Given the description of an element on the screen output the (x, y) to click on. 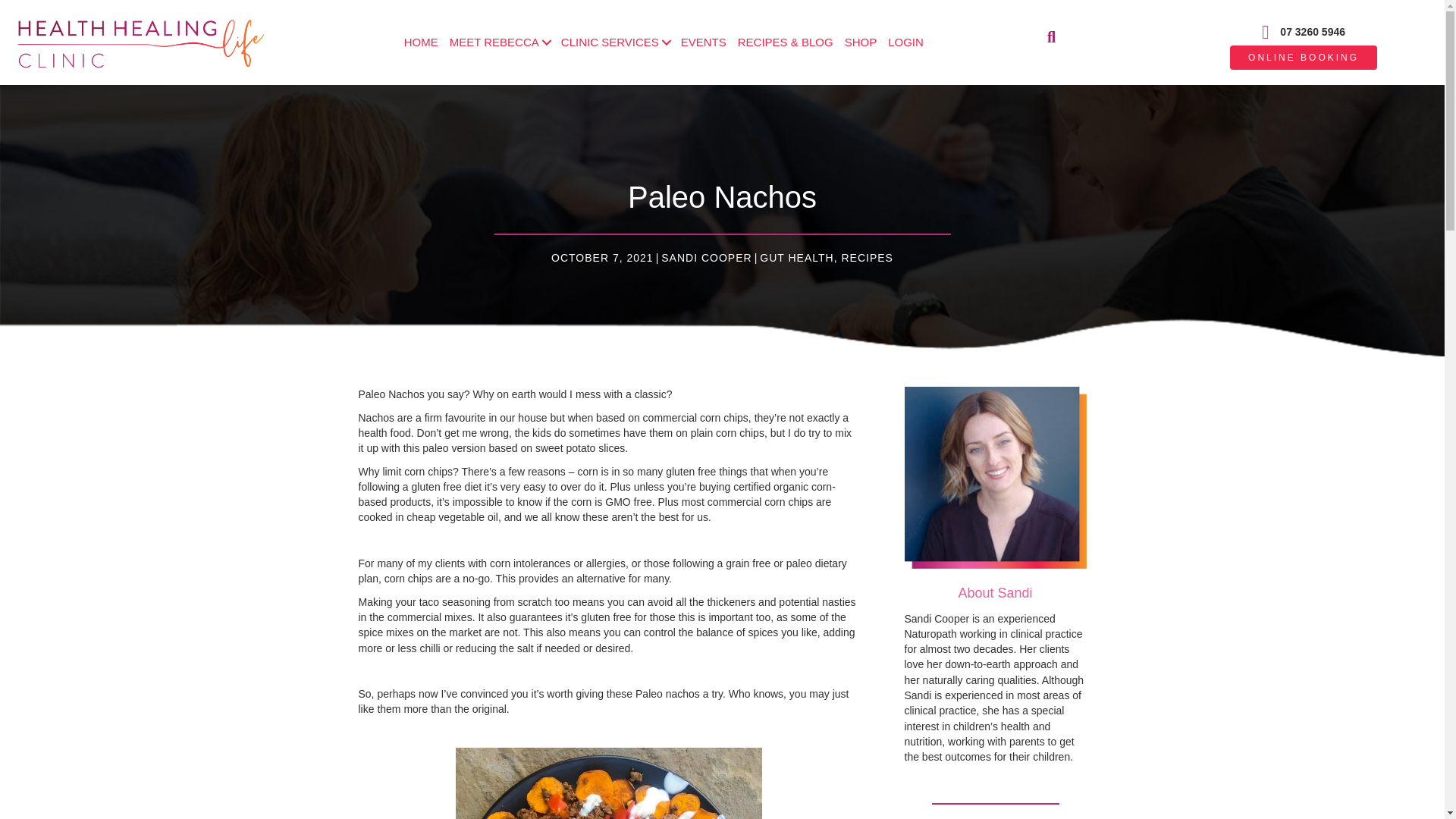
RP-HHLC-Logo (139, 42)
GUT HEALTH (796, 257)
SHOP (861, 42)
RECIPES (866, 257)
LOGIN (905, 42)
EVENTS (703, 42)
MEET REBECCA (499, 42)
ONLINE BOOKING (1303, 57)
HOME (421, 42)
SANDI COOPER (706, 257)
